Given the description of an element on the screen output the (x, y) to click on. 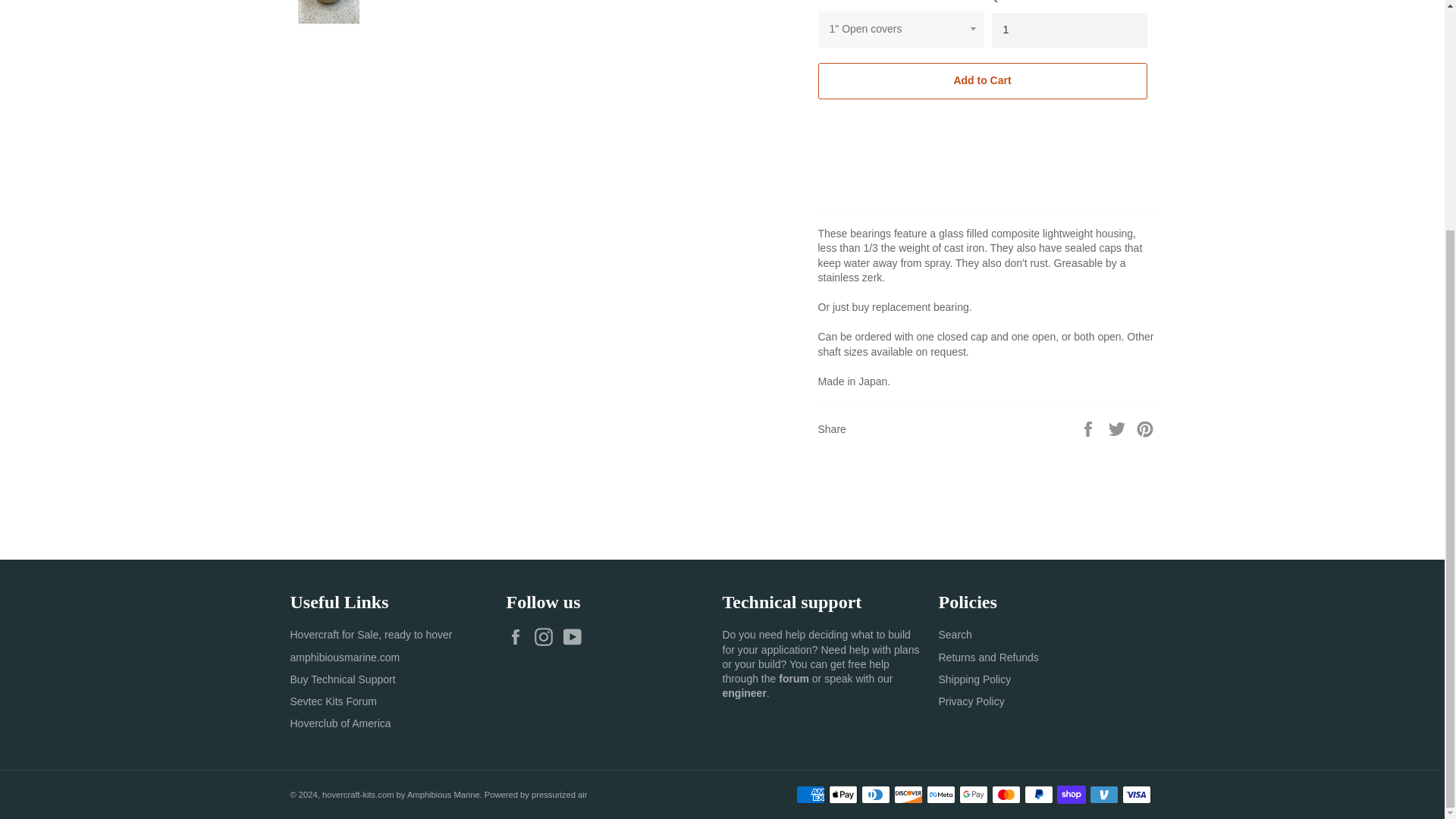
Tweet on Twitter (1118, 428)
1 (1069, 29)
Pin on Pinterest (1144, 428)
hovercraft-kits.com by Amphibious Marine on Facebook (519, 637)
hovercraft-kits.com by Amphibious Marine on Instagram (547, 637)
hovercraft-kits.com by Amphibious Marine on YouTube (576, 637)
Share on Facebook (1089, 428)
